Given the description of an element on the screen output the (x, y) to click on. 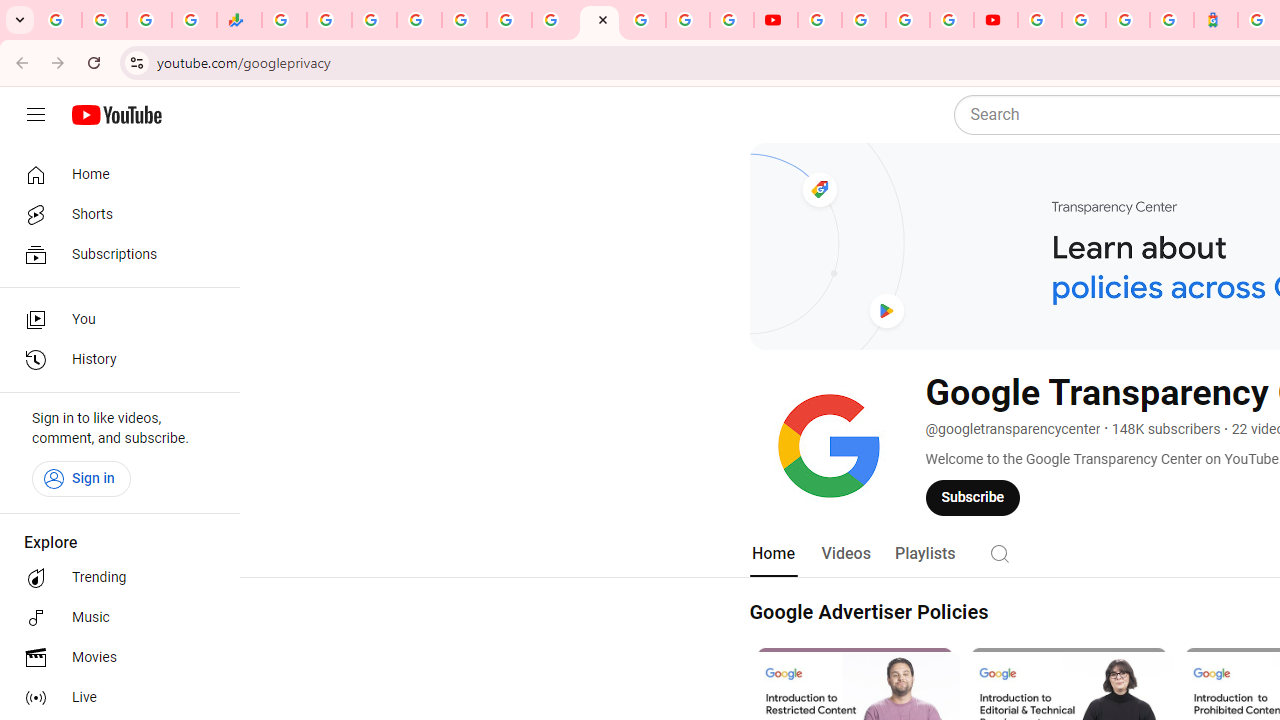
YouTube Home (116, 115)
Google Transparency Center - YouTube (599, 20)
